Given the description of an element on the screen output the (x, y) to click on. 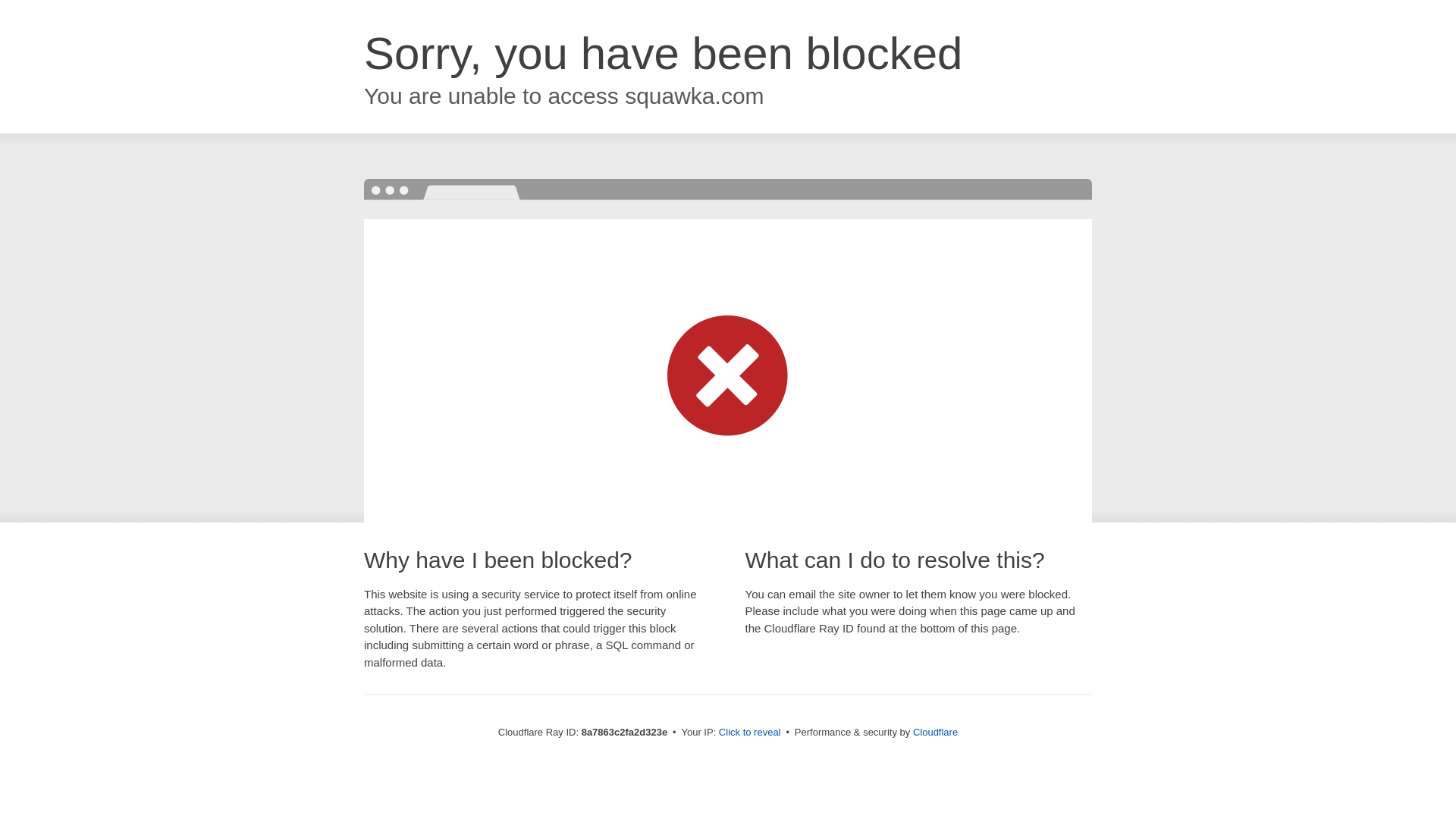
Cloudflare (935, 731)
Click to reveal (749, 732)
